Given the description of an element on the screen output the (x, y) to click on. 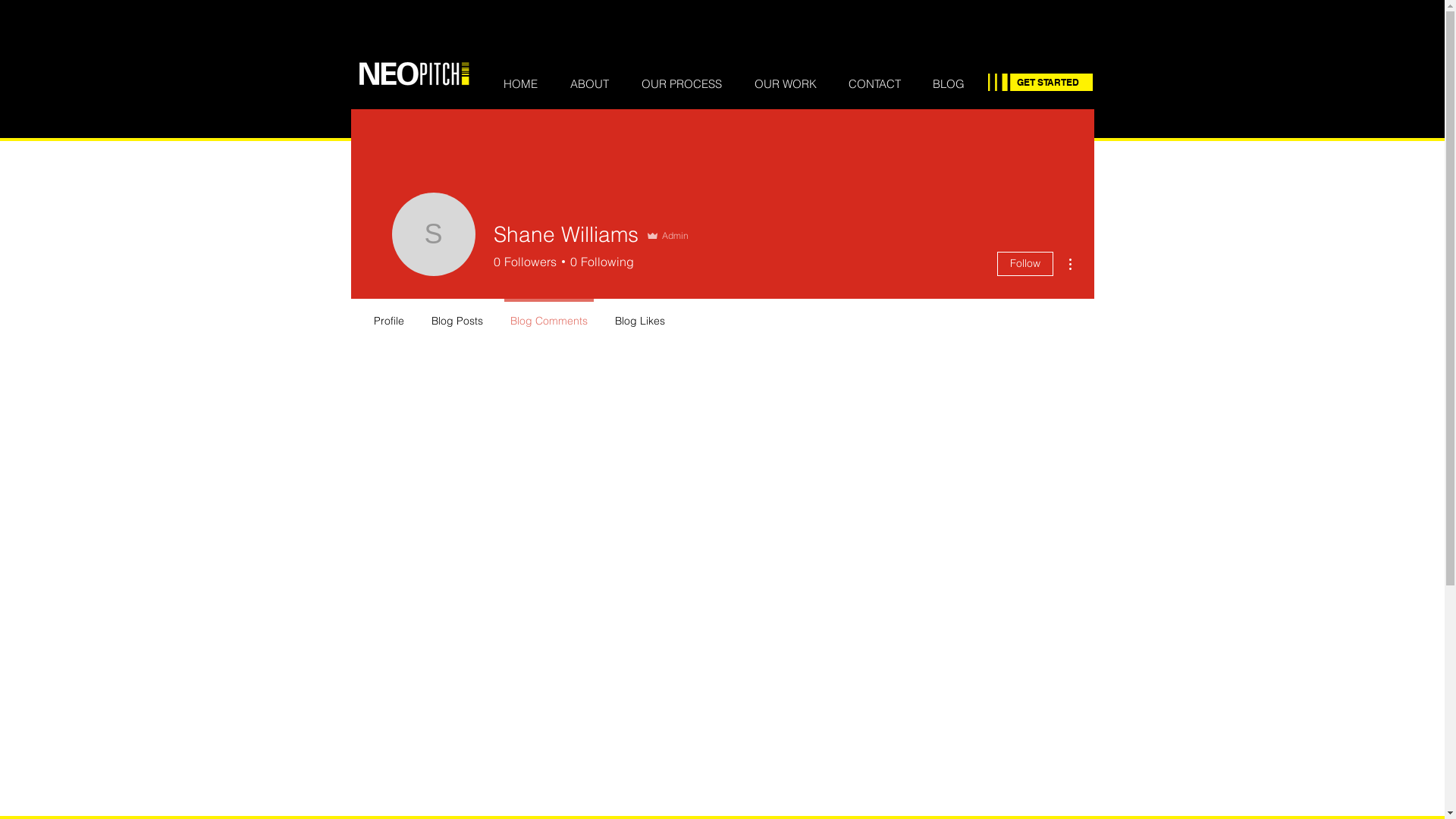
ABOUT Element type: text (588, 83)
0
Following Element type: text (598, 261)
OUR PROCESS Element type: text (680, 83)
GET STARTED Element type: text (1047, 82)
Follow Element type: text (1024, 263)
OUR WORK Element type: text (785, 83)
BLOG Element type: text (947, 83)
Blog Posts Element type: text (456, 313)
CONTACT Element type: text (874, 83)
HOME Element type: text (519, 83)
Blog Comments Element type: text (547, 313)
0
Followers Element type: text (523, 261)
Blog Likes Element type: text (638, 313)
Profile Element type: text (388, 313)
